Given the description of an element on the screen output the (x, y) to click on. 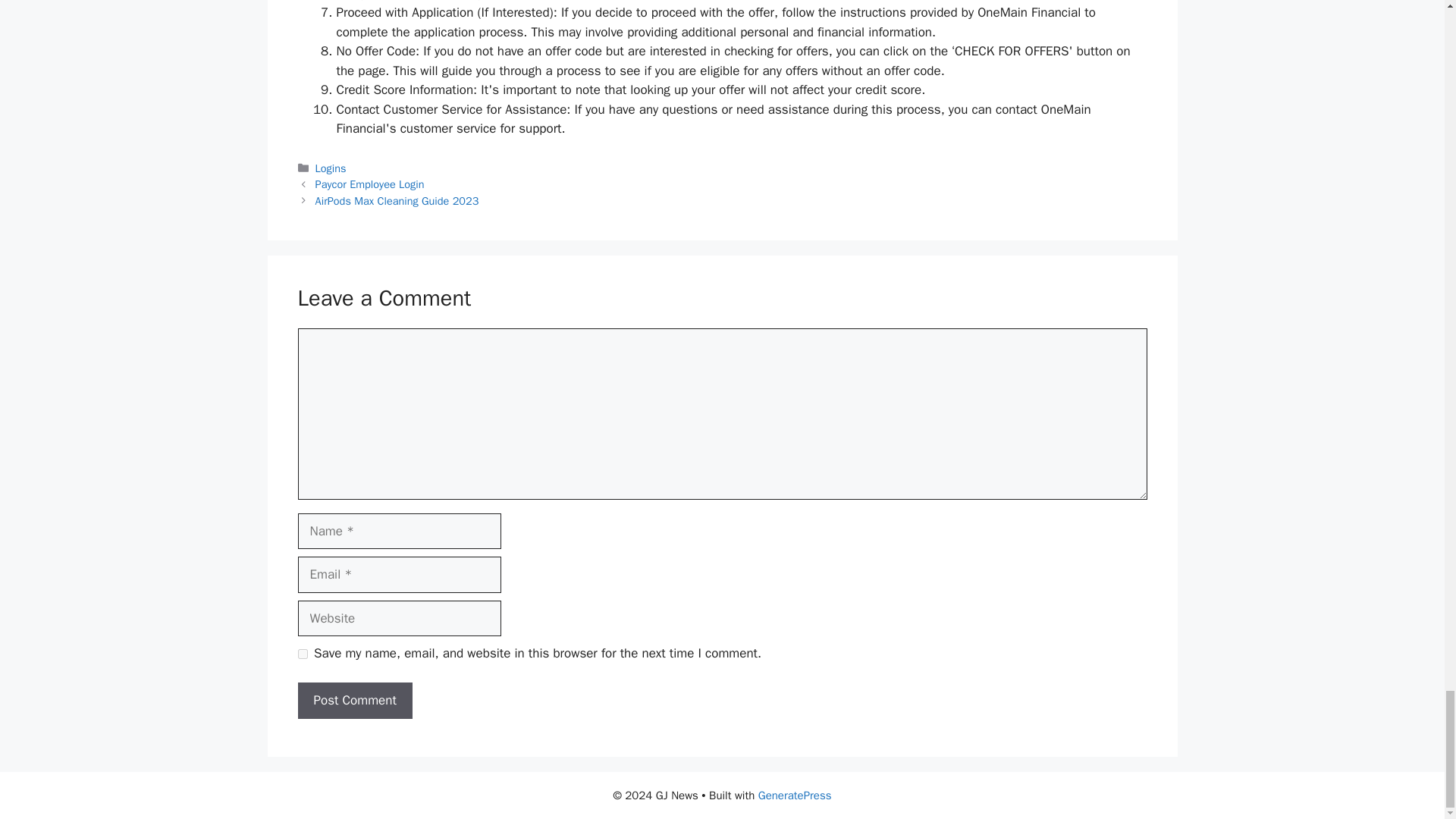
AirPods Max Cleaning Guide 2023 (397, 201)
Logins (330, 168)
GeneratePress (794, 795)
yes (302, 654)
Post Comment (354, 700)
Post Comment (354, 700)
Paycor Employee Login (370, 183)
